Given the description of an element on the screen output the (x, y) to click on. 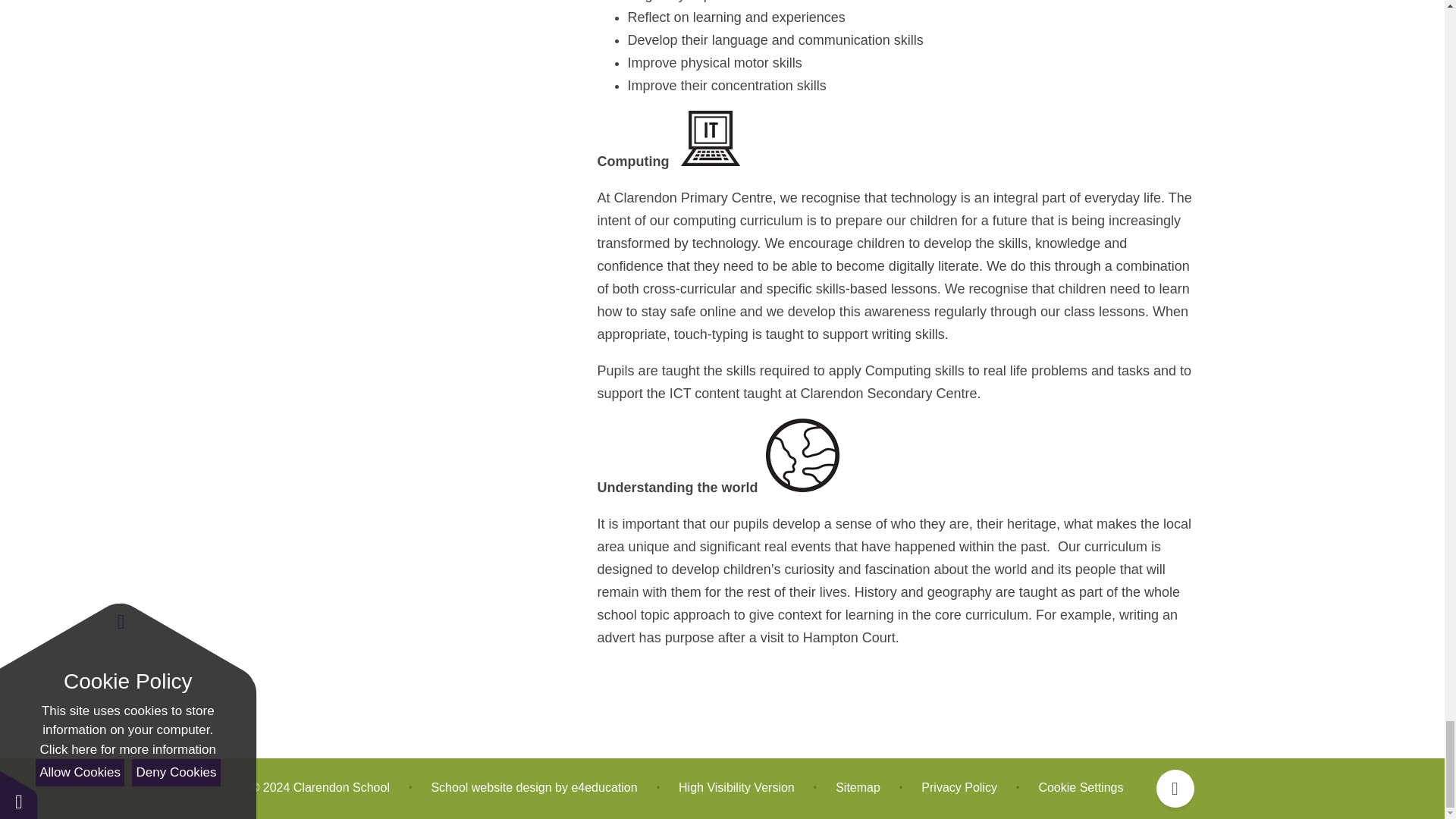
Cookie Settings (1080, 787)
